Given the description of an element on the screen output the (x, y) to click on. 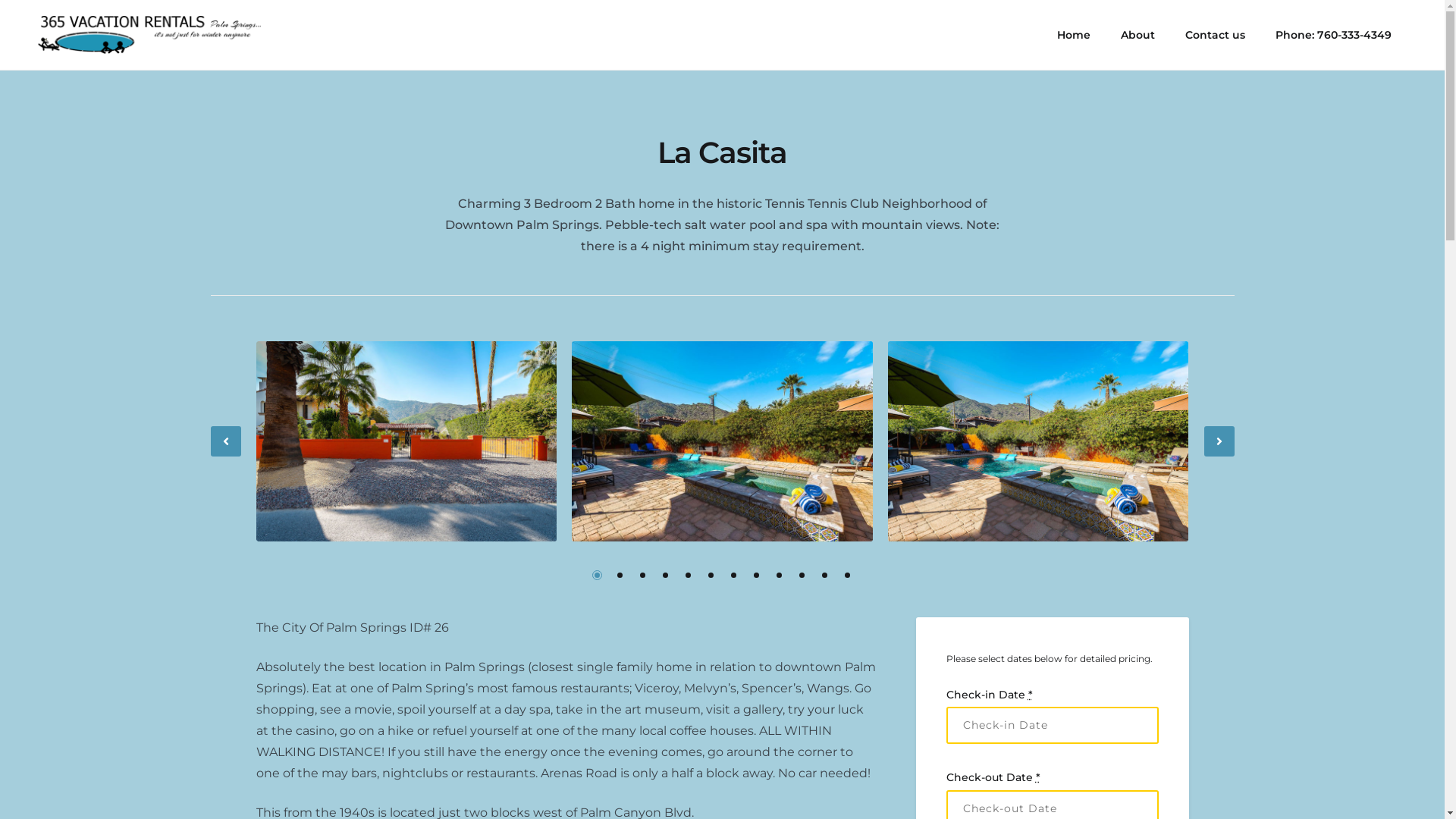
365 Vacation Rentals Element type: text (110, 34)
Previous Element type: text (225, 441)
Home Element type: text (1073, 34)
9 Element type: text (778, 574)
7 Element type: text (733, 574)
Contact us Element type: text (1215, 34)
About Element type: text (1137, 34)
3 Element type: text (642, 574)
5 Element type: text (687, 574)
4 Element type: text (665, 574)
2 Element type: text (619, 574)
6 Element type: text (710, 574)
8 Element type: text (756, 574)
Next Element type: text (1219, 441)
12 Element type: text (847, 574)
11 Element type: text (824, 574)
1 Element type: text (596, 574)
10 Element type: text (801, 574)
